Given the description of an element on the screen output the (x, y) to click on. 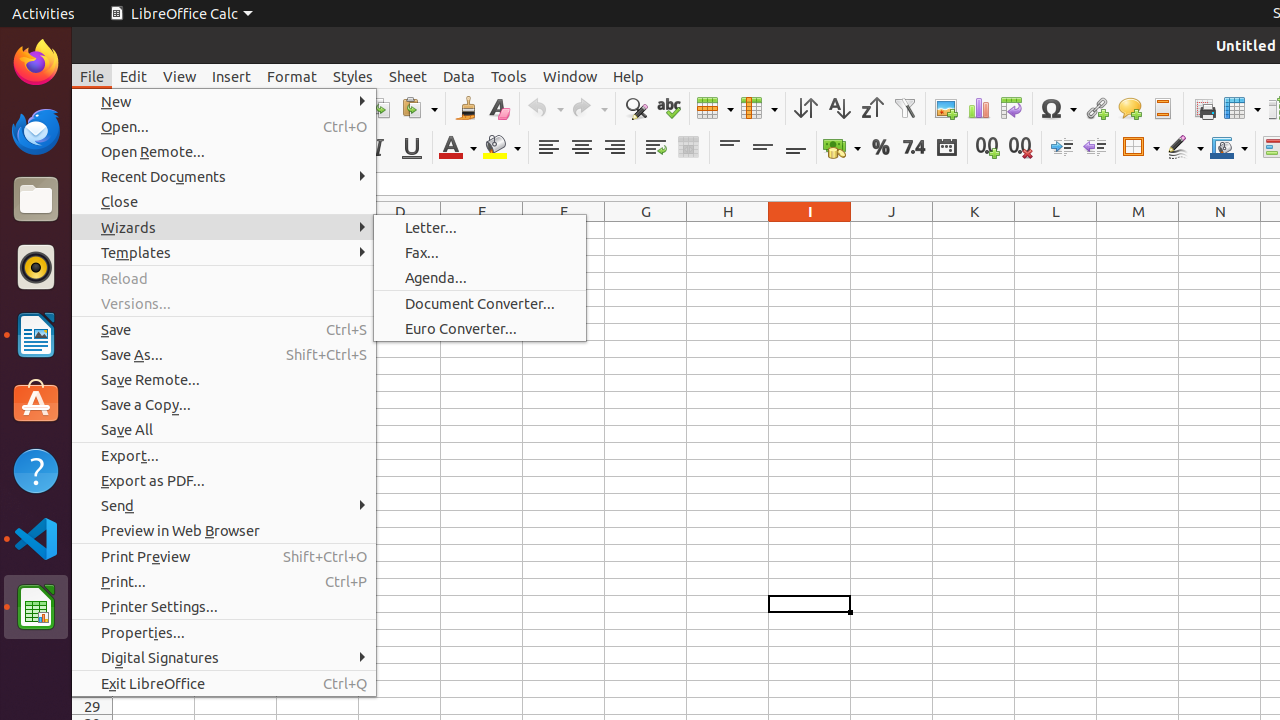
Save Remote... Element type: menu-item (224, 379)
Row Element type: push-button (715, 108)
Tools Element type: menu (509, 76)
Headers and Footers Element type: push-button (1162, 108)
L1 Element type: table-cell (1056, 230)
